Given the description of an element on the screen output the (x, y) to click on. 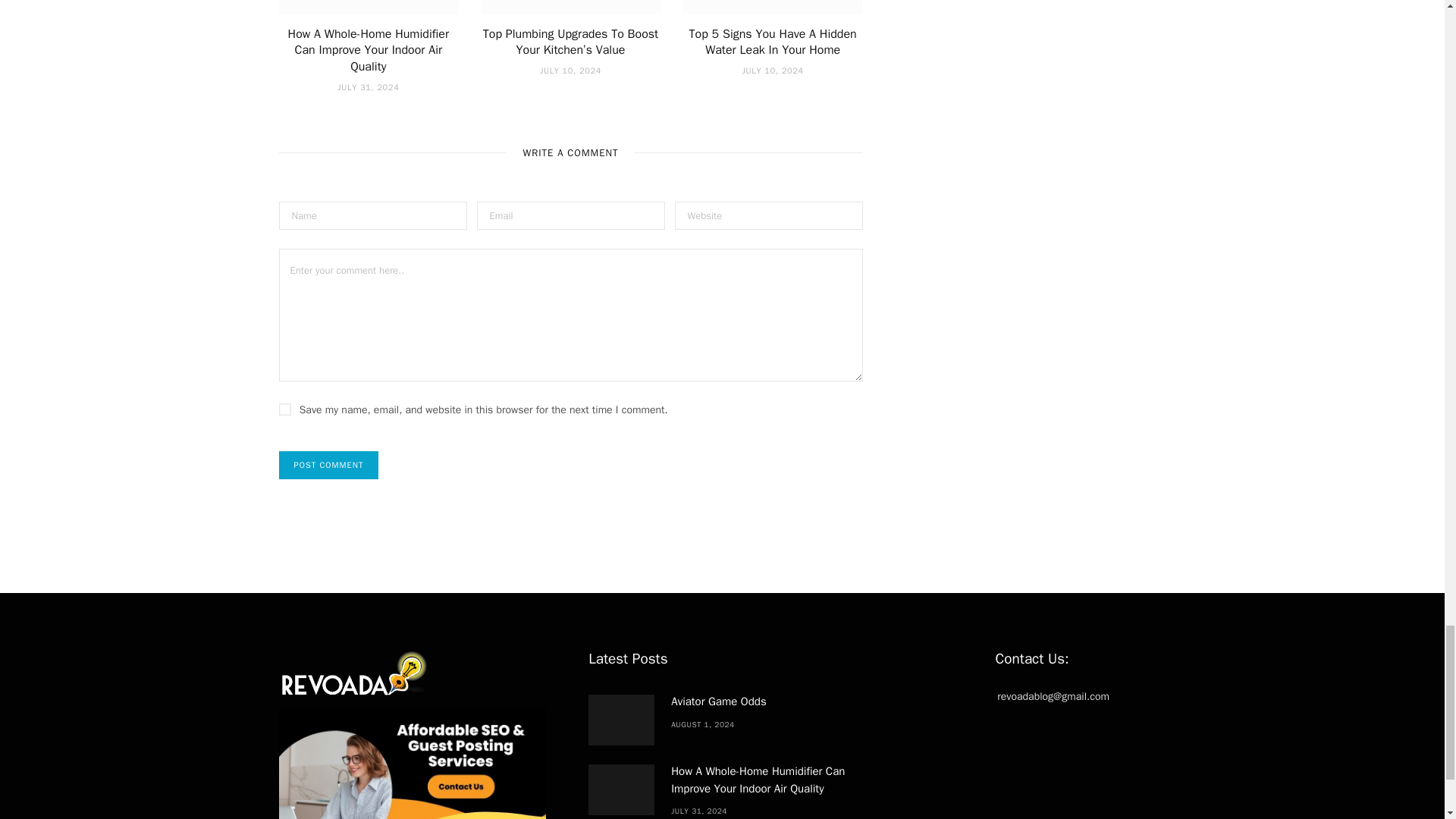
yes (285, 409)
Post Comment (328, 465)
